Given the description of an element on the screen output the (x, y) to click on. 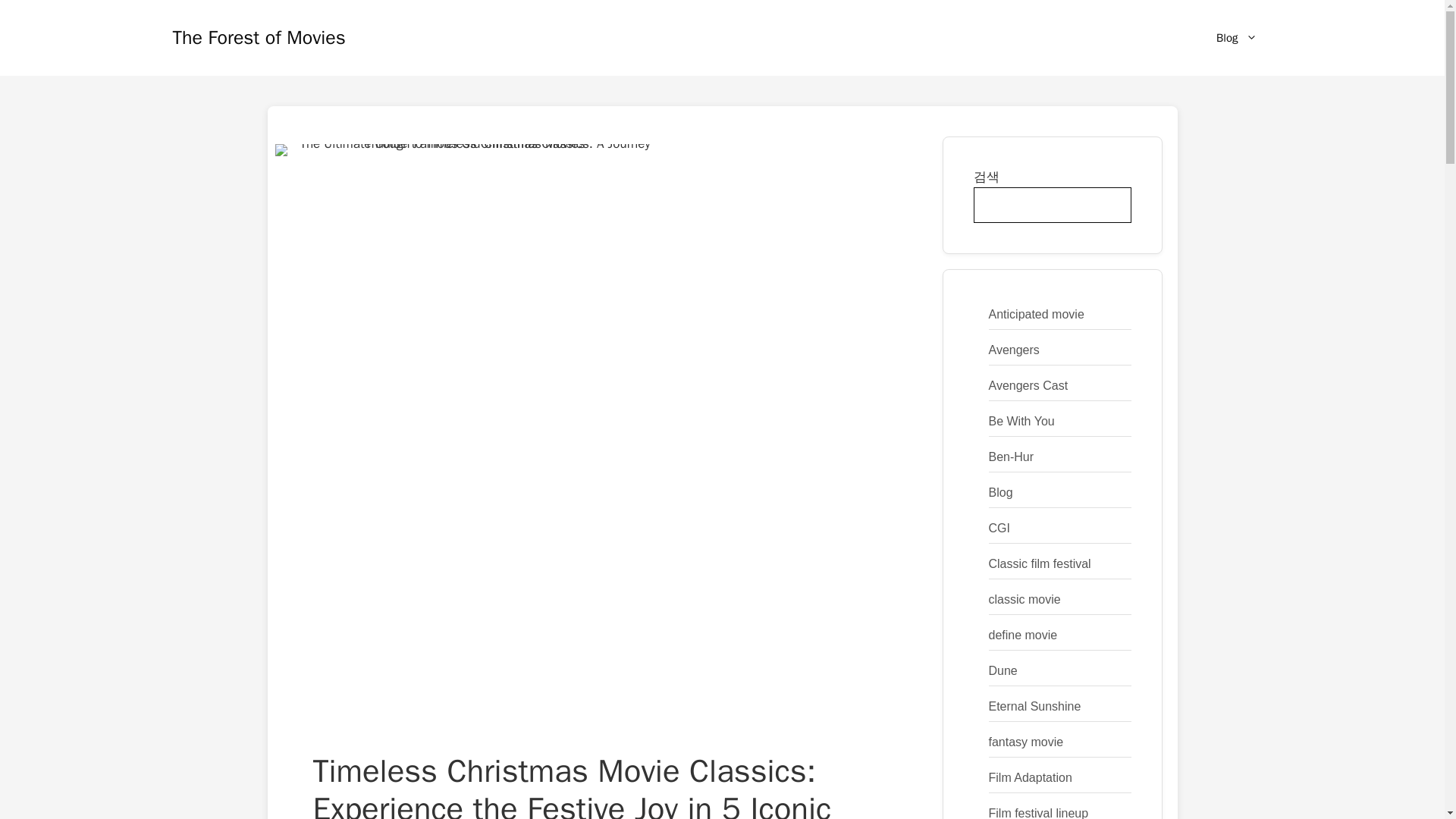
Anticipated movie (1036, 314)
Blog (1236, 37)
The Forest of Movies (259, 37)
